Given the description of an element on the screen output the (x, y) to click on. 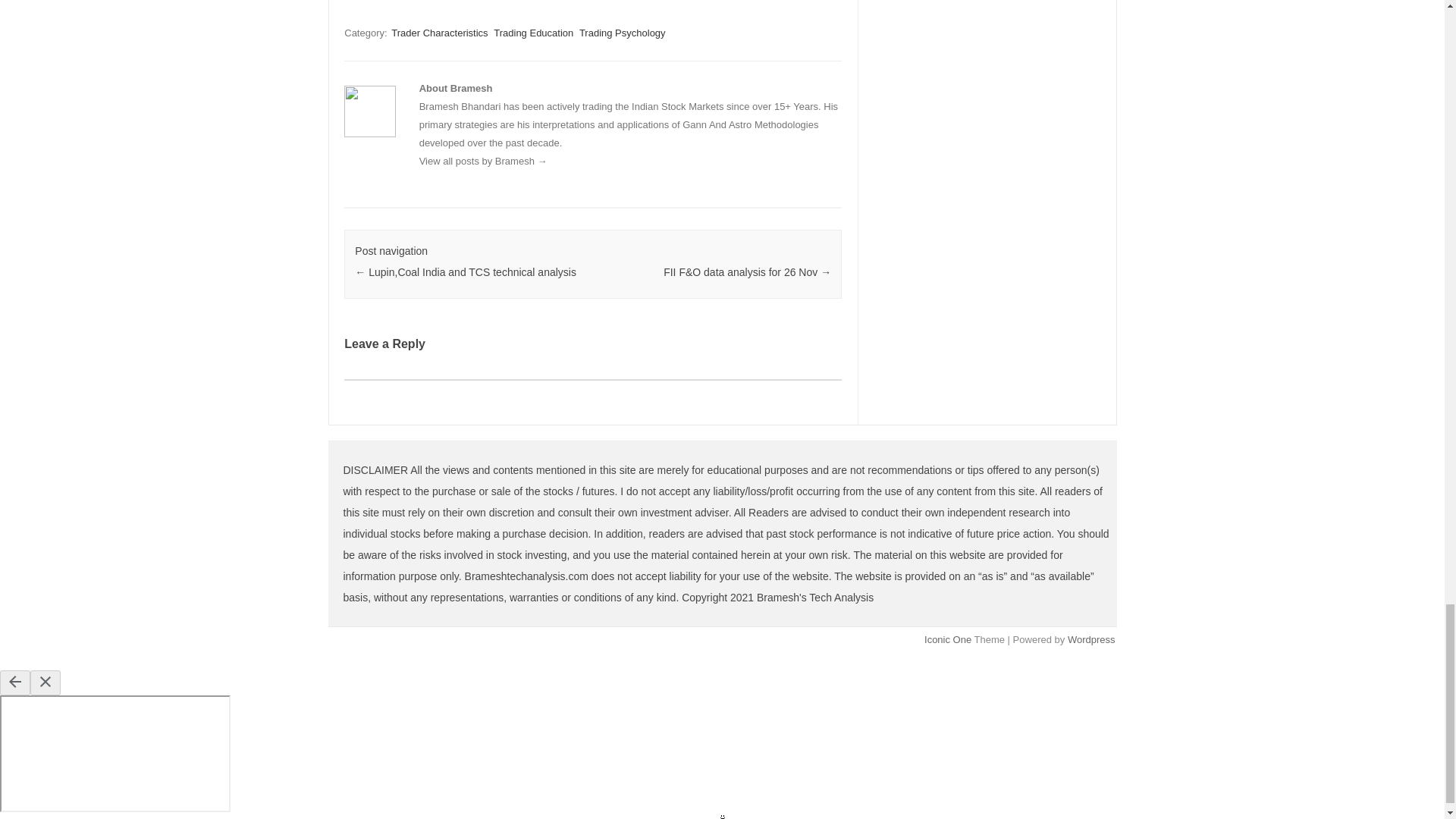
Trading Psychology (622, 32)
Trading Education (533, 32)
Trader Characteristics (439, 32)
